Given the description of an element on the screen output the (x, y) to click on. 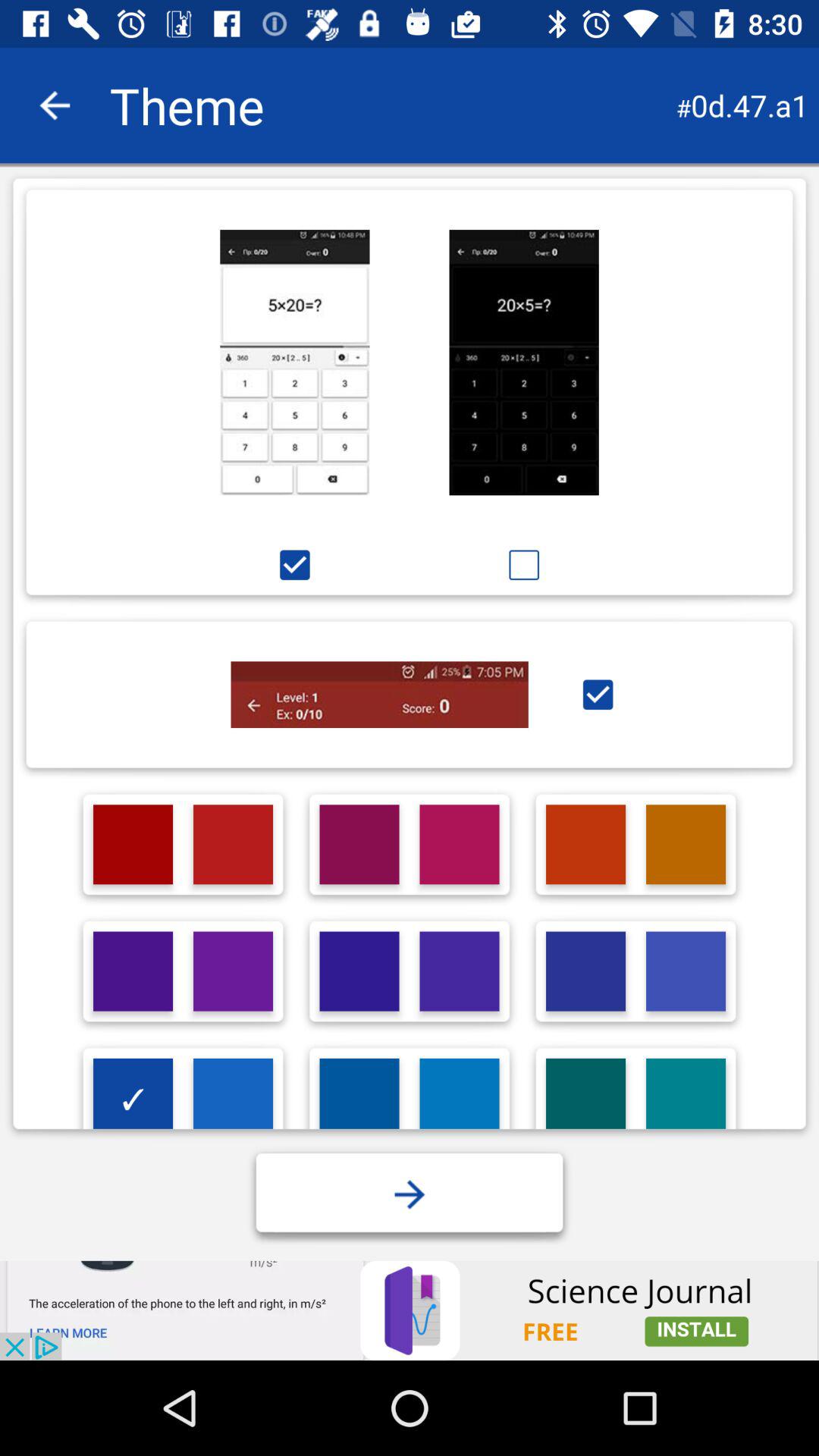
sdd (359, 1098)
